Given the description of an element on the screen output the (x, y) to click on. 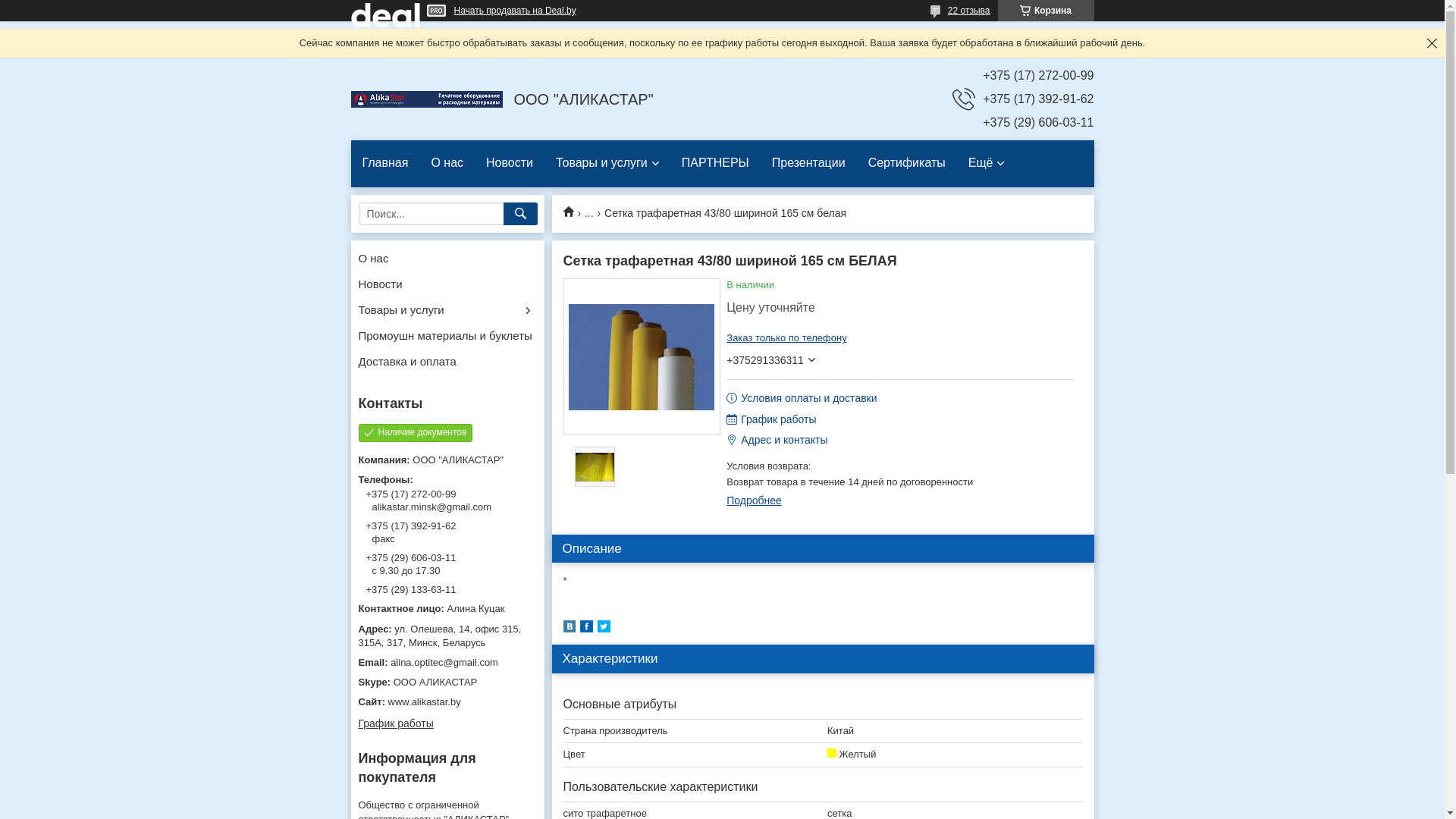
www.alikastar.by Element type: text (446, 702)
facebook Element type: hover (585, 628)
alina.optitec@gmail.com Element type: text (446, 662)
twitter Element type: hover (603, 628)
